Given the description of an element on the screen output the (x, y) to click on. 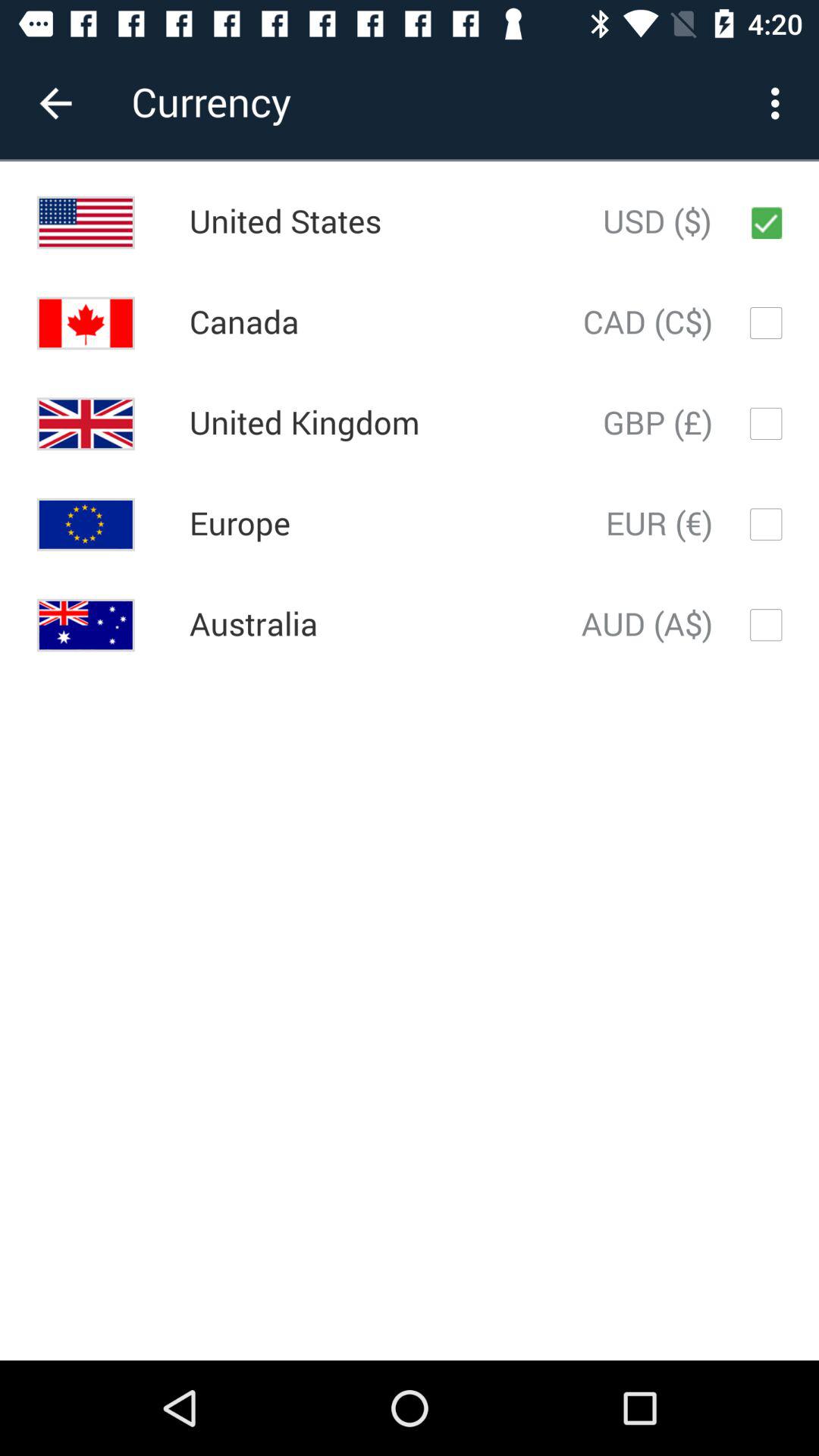
select icon above europe item (304, 423)
